Given the description of an element on the screen output the (x, y) to click on. 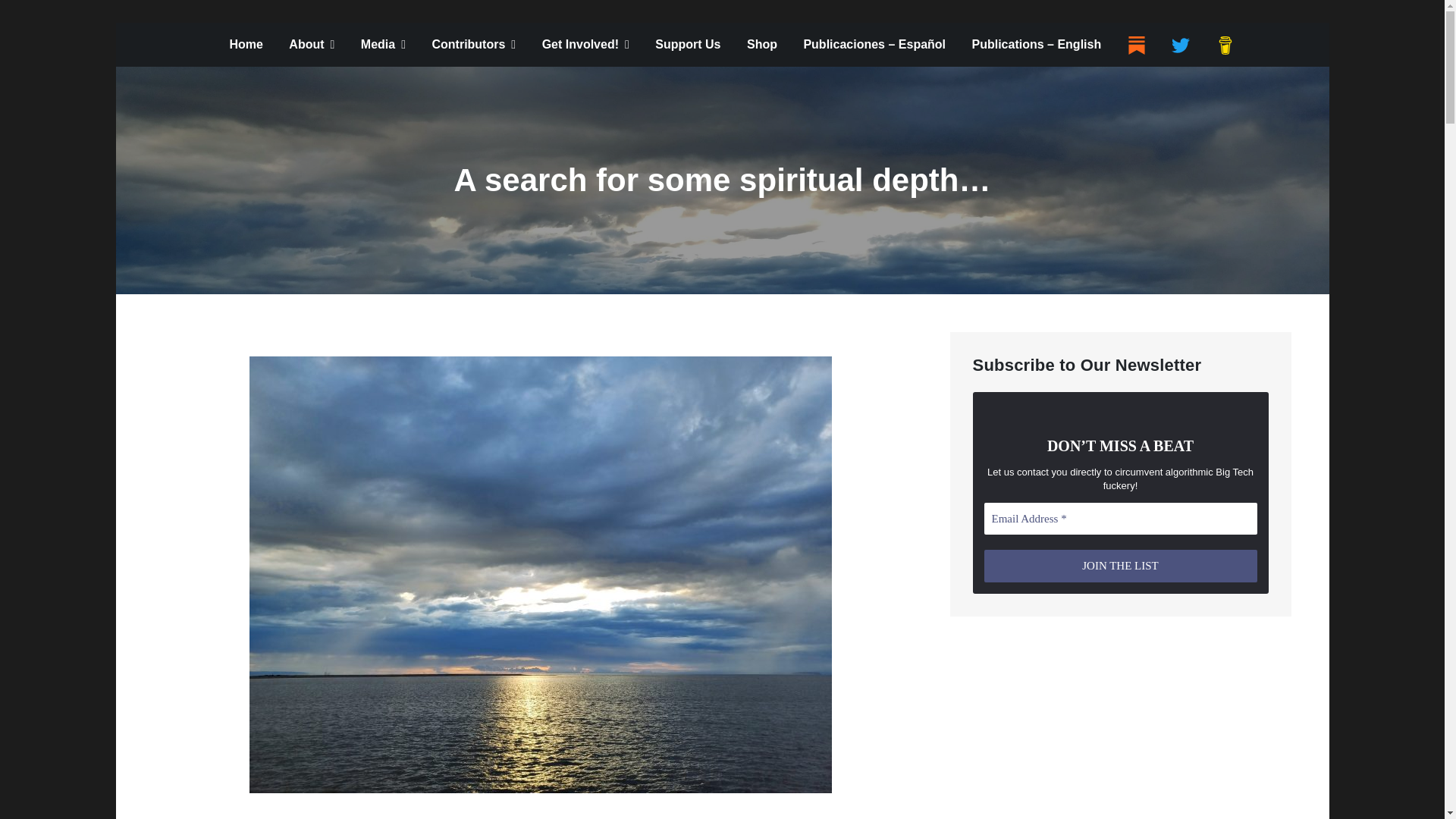
About (312, 44)
Twitter (1180, 45)
Home (244, 44)
Email Address (1120, 518)
Buy Me A Coffee (1224, 45)
Substack (1135, 45)
Contributors (473, 44)
Media (382, 44)
JOIN THE LIST (1120, 565)
